Given the description of an element on the screen output the (x, y) to click on. 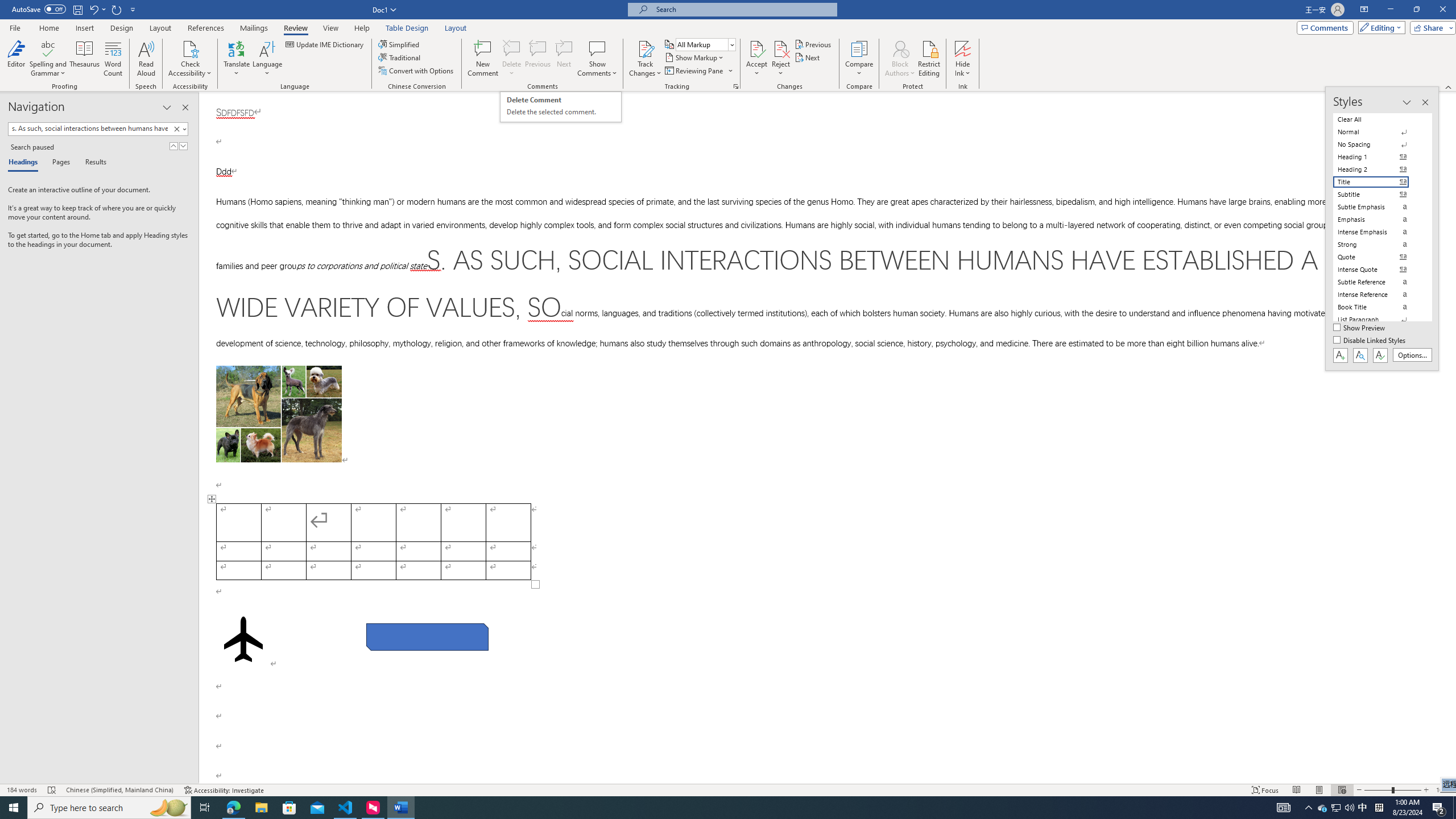
Search document (89, 128)
Display for Review (705, 44)
Microsoft search (742, 9)
Results (91, 162)
Translate (236, 58)
Show Markup (695, 56)
Pages (59, 162)
Next Result (183, 145)
Previous (813, 44)
Accept (756, 58)
Language (267, 58)
